Given the description of an element on the screen output the (x, y) to click on. 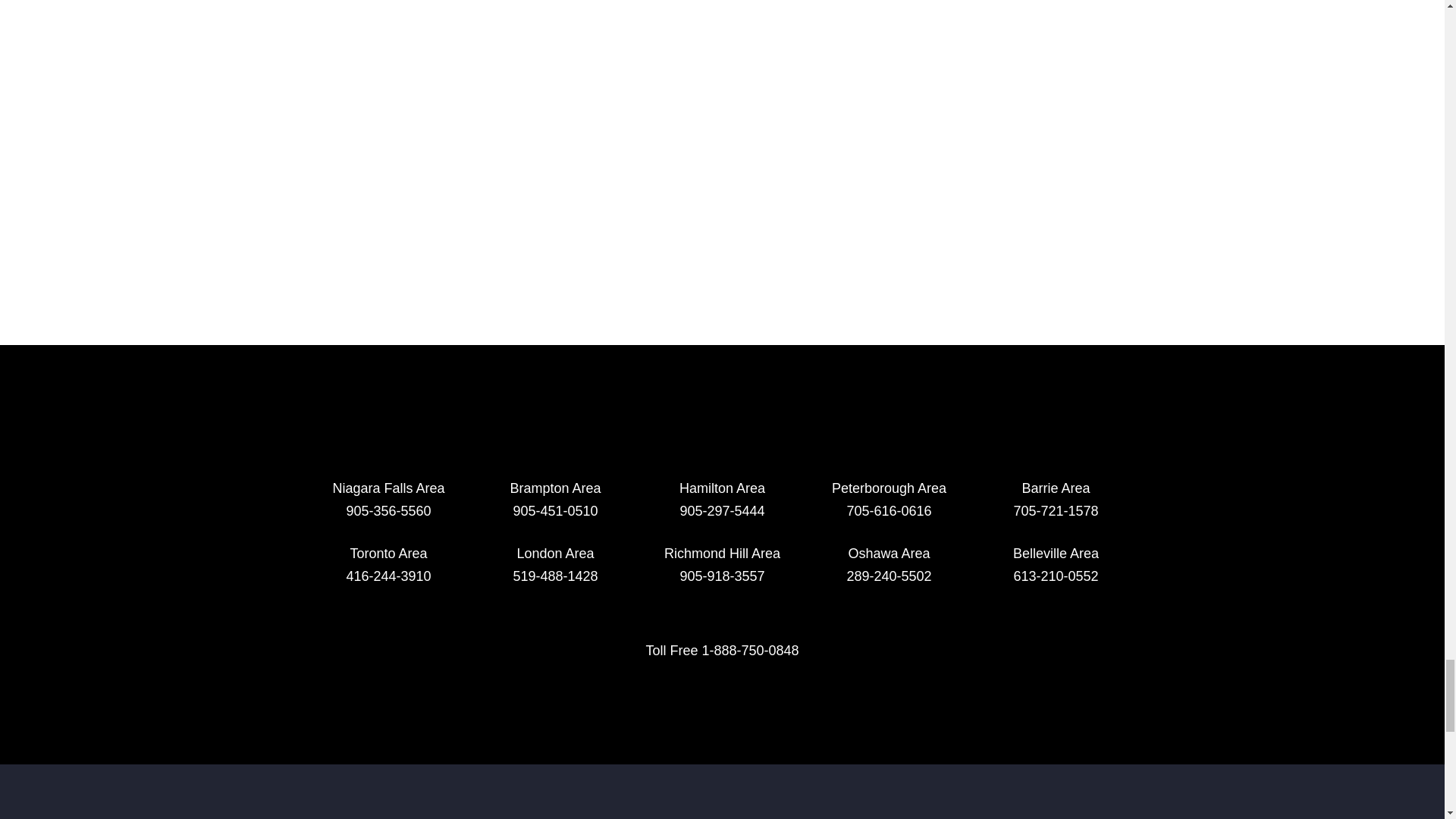
YouTube video player (721, 19)
